Given the description of an element on the screen output the (x, y) to click on. 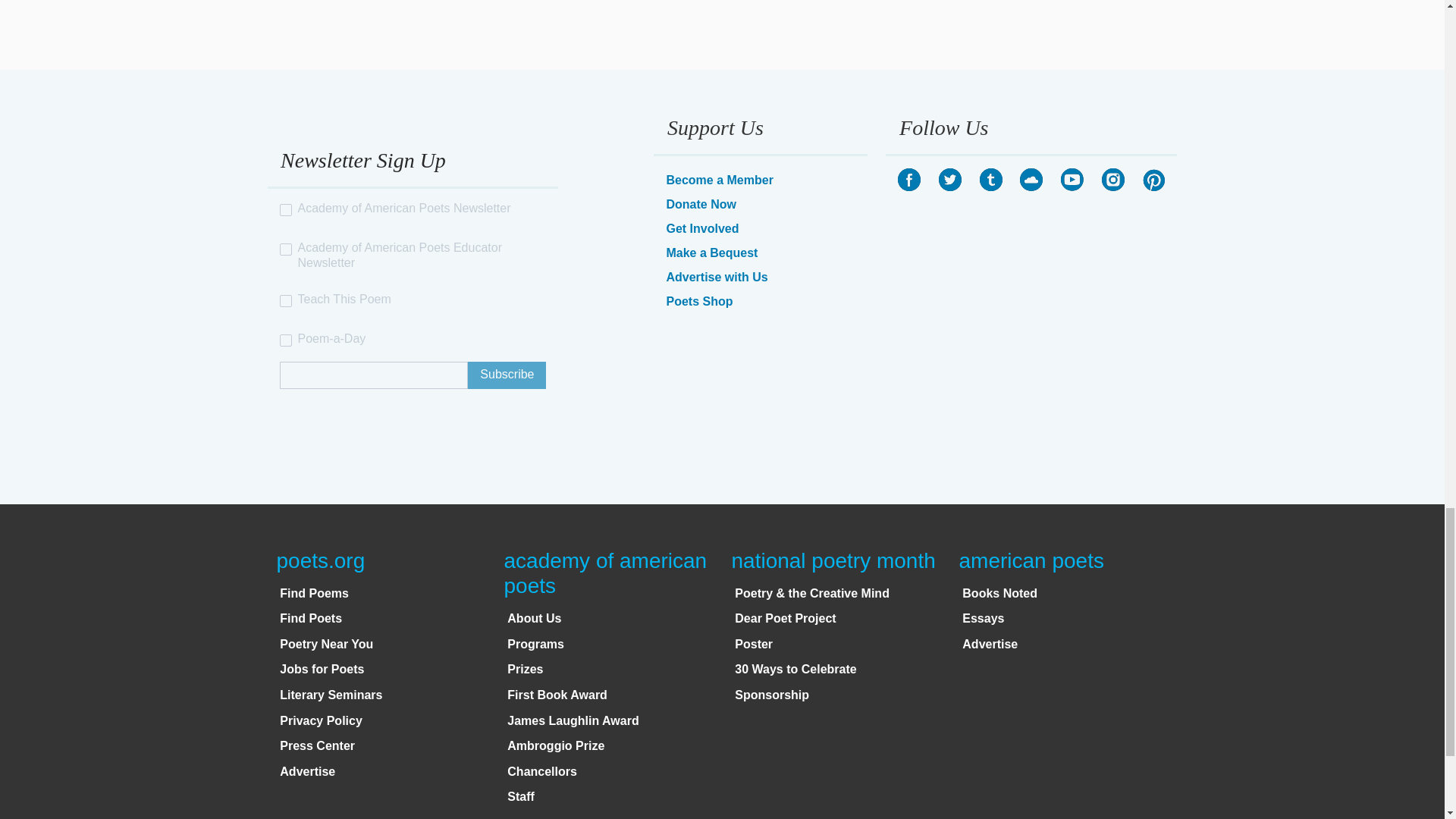
Jobs for Poets (321, 668)
Subscribe (506, 375)
Poetry Near You (325, 644)
